Given the description of an element on the screen output the (x, y) to click on. 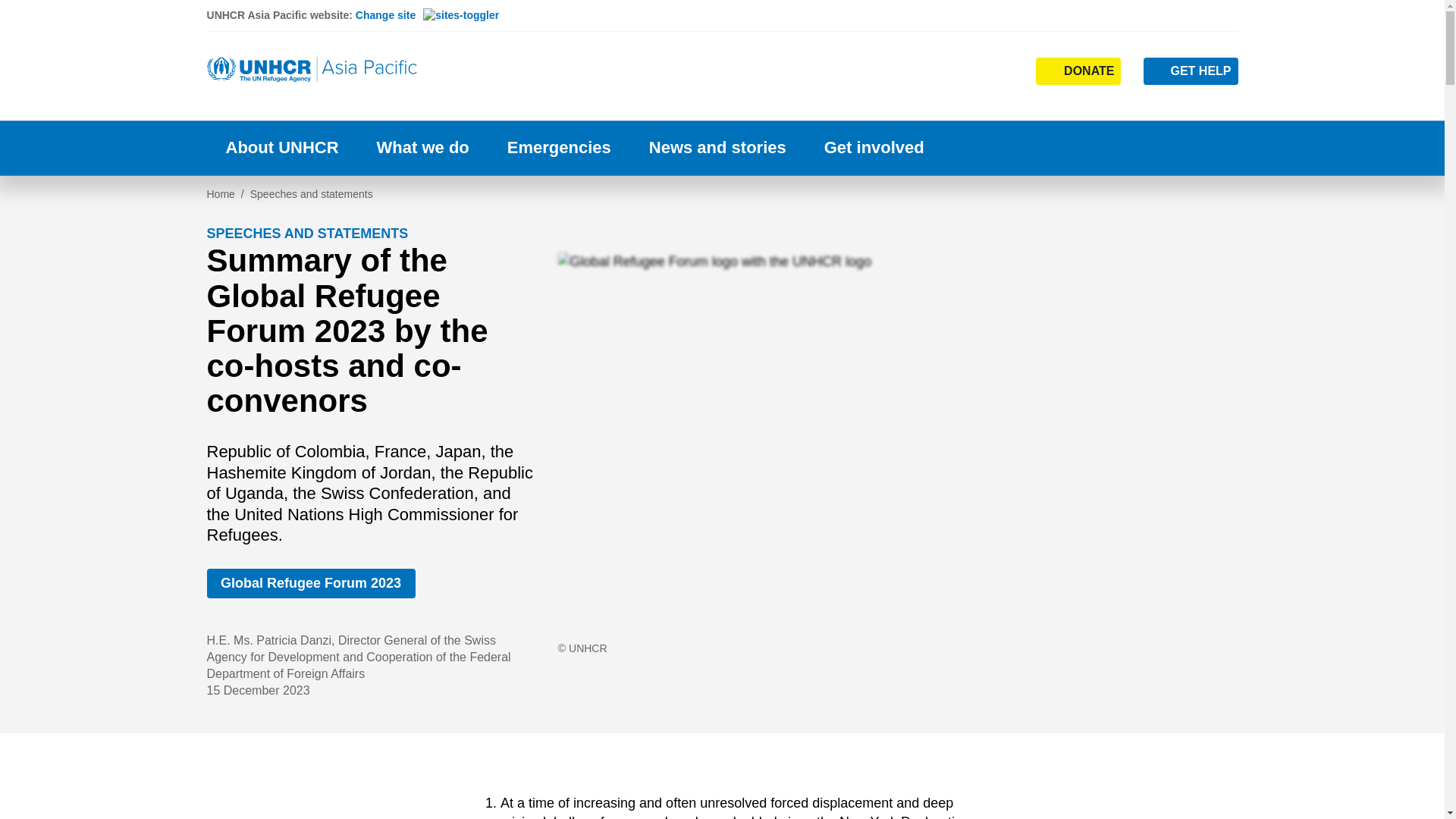
DONATE (1078, 71)
Change site (427, 15)
About UNHCR (281, 148)
Skip to main content (721, 1)
Search (954, 99)
Sites (1000, 69)
Search (952, 69)
Home (312, 69)
GET HELP (1189, 71)
